Given the description of an element on the screen output the (x, y) to click on. 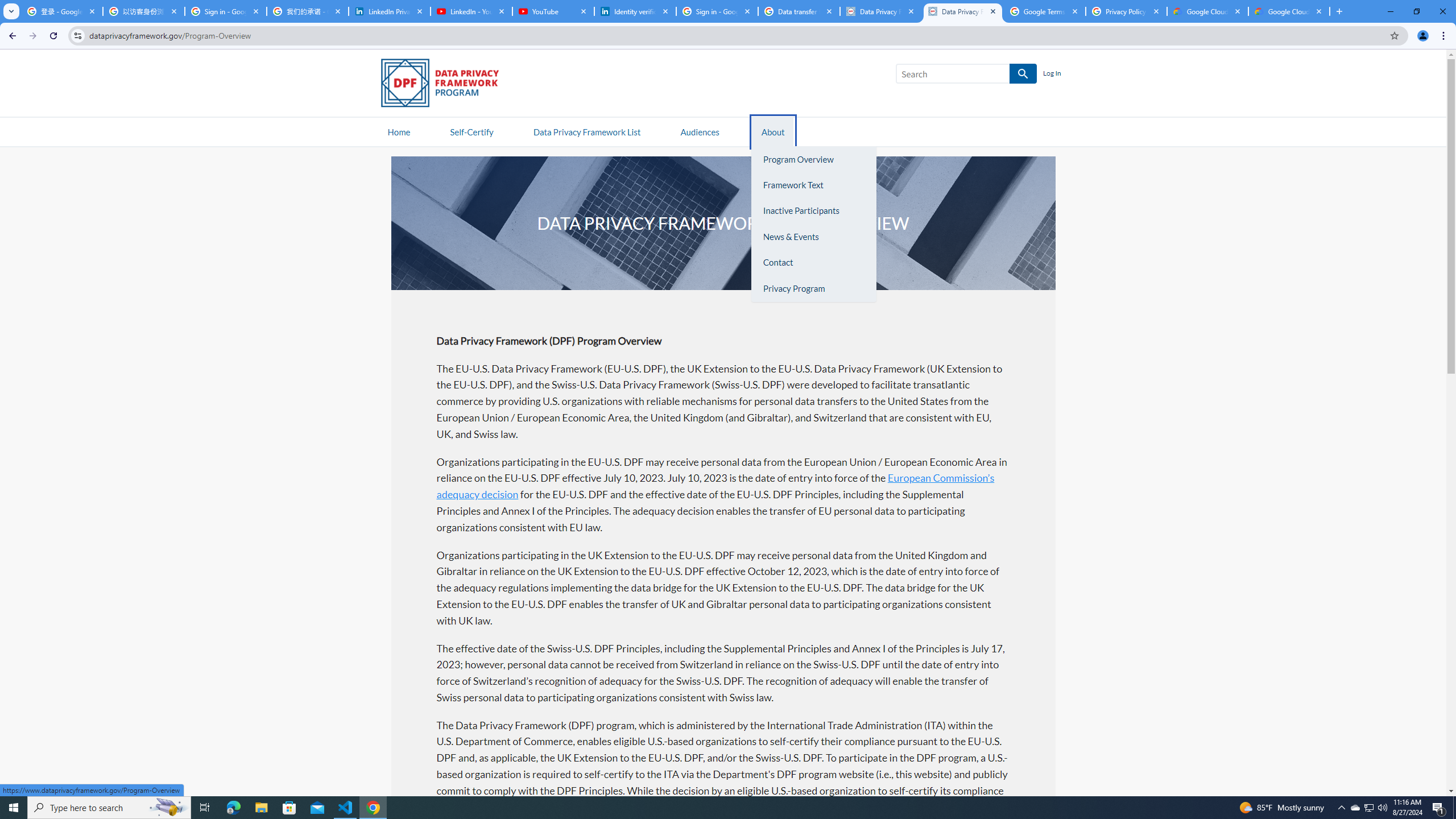
Sign in - Google Accounts (225, 11)
Google Cloud Privacy Notice (1207, 11)
Framework Text (813, 184)
Self-Certify (471, 131)
AutomationID: navitem2 (771, 131)
Search SEARCH (965, 75)
Program Overview (813, 158)
YouTube (552, 11)
